Given the description of an element on the screen output the (x, y) to click on. 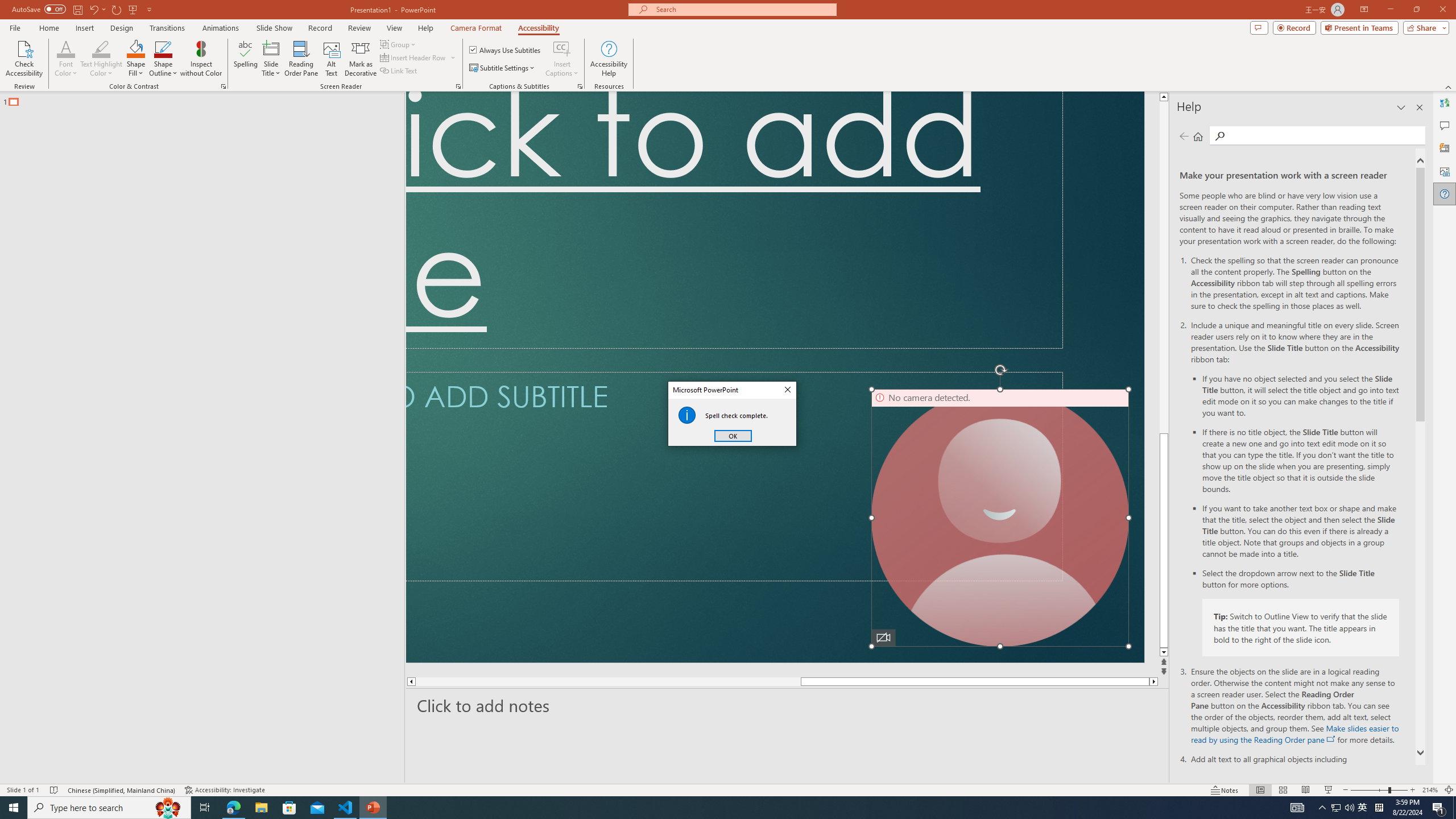
Captions & Subtitles (580, 85)
Link Text (399, 69)
Inspect without Color (201, 58)
